Given the description of an element on the screen output the (x, y) to click on. 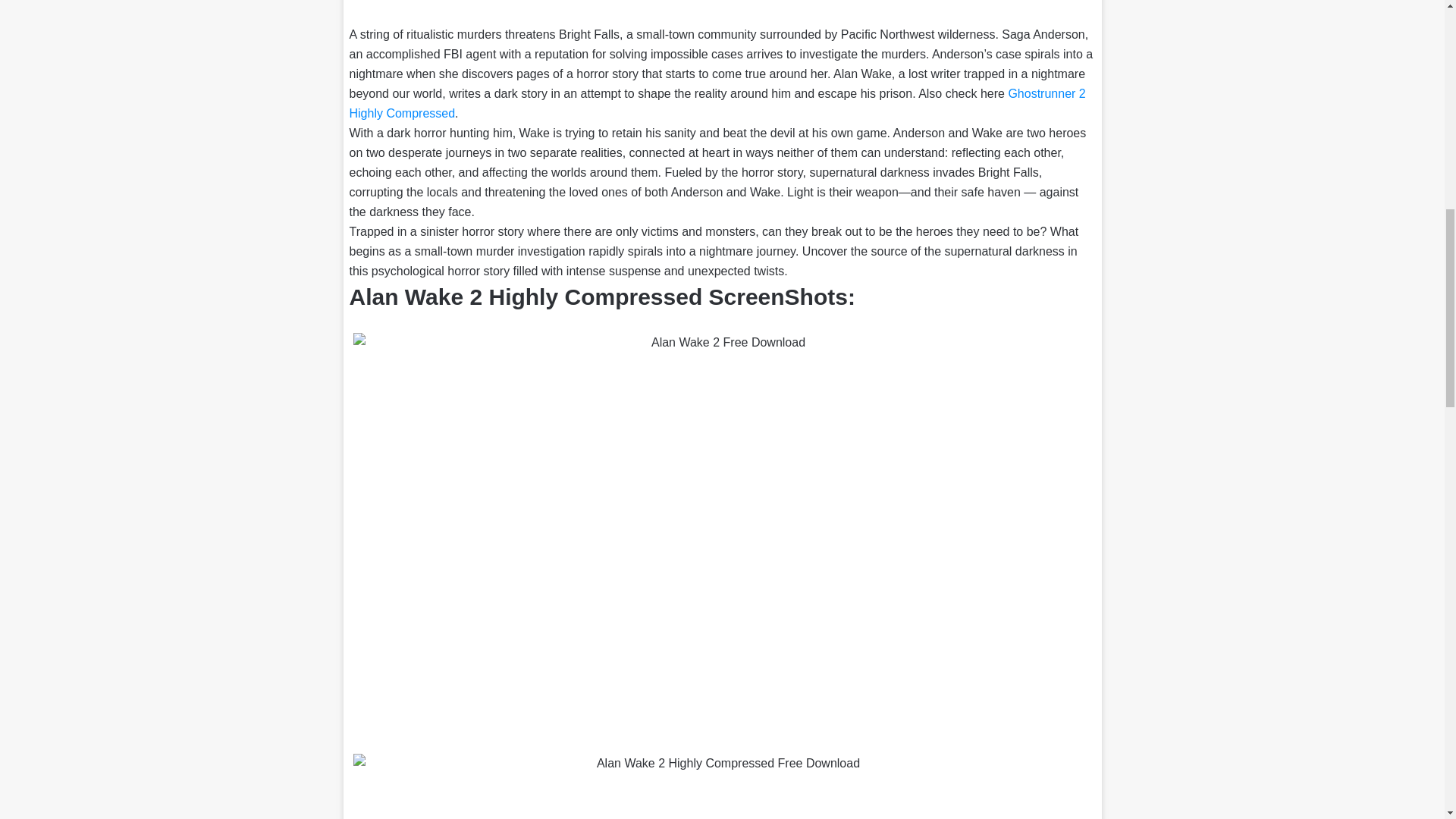
Ghostrunner 2 Highly Compressed (716, 102)
Back to top button (1419, 62)
Alan Wake 2 Highly Compressed Free Download (722, 786)
